Given the description of an element on the screen output the (x, y) to click on. 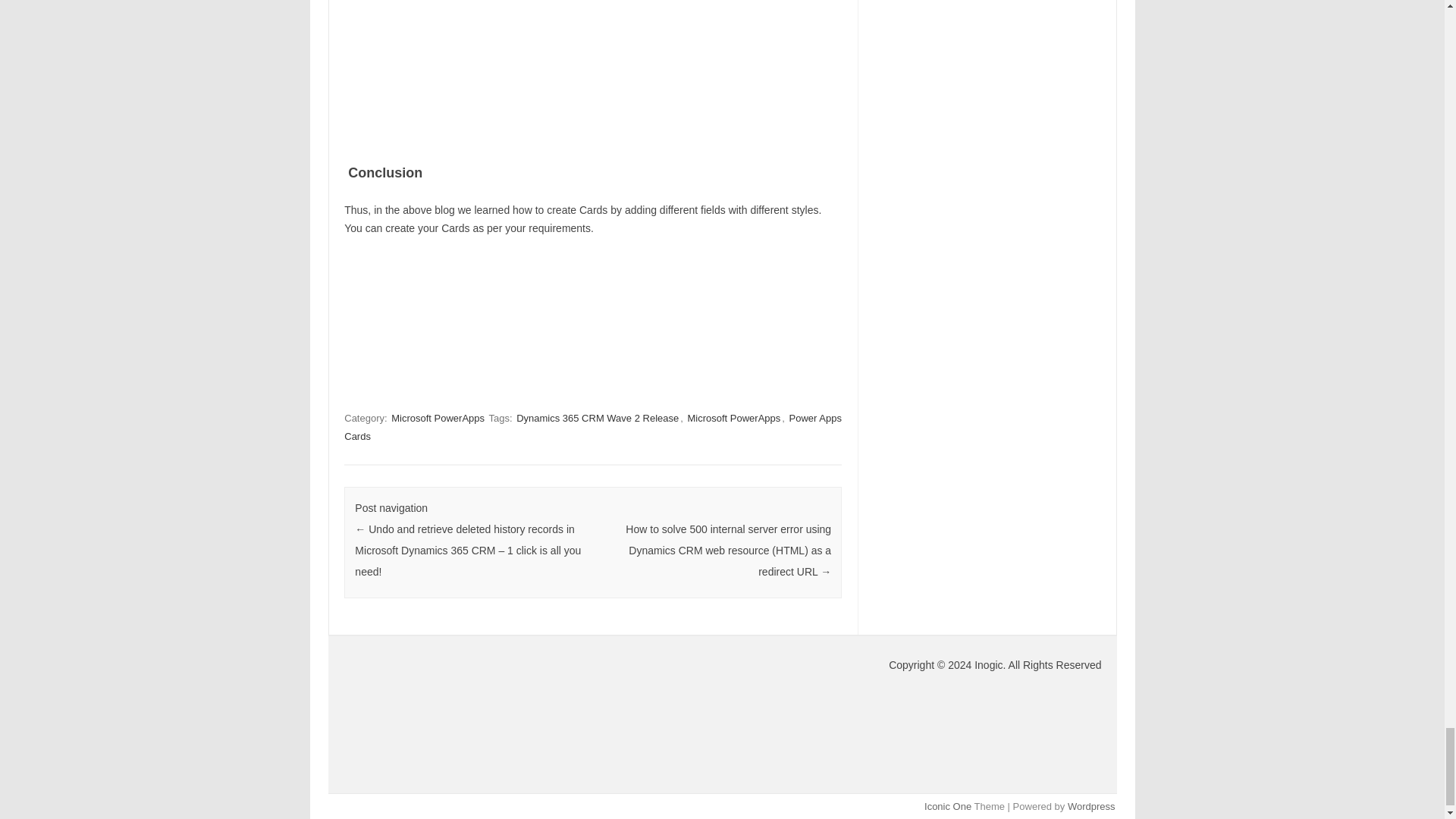
SiteLock (461, 711)
Microsoft PowerApps (438, 418)
Dynamics 365 CRM Wave 2 Release (597, 418)
